Given the description of an element on the screen output the (x, y) to click on. 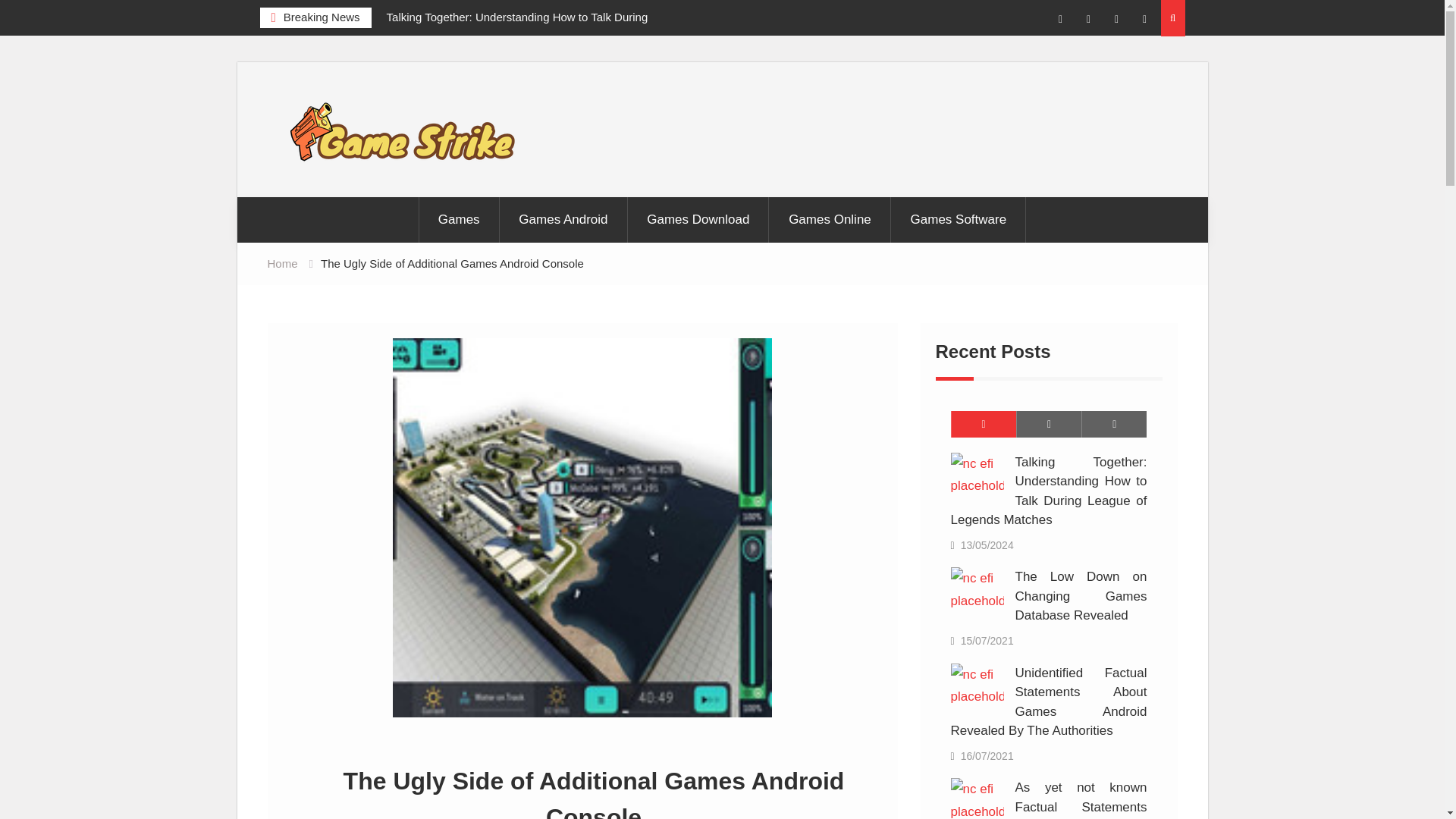
Pinterest (1144, 19)
Games Software (958, 219)
Games Android (563, 219)
The Low Down on Changing Games Database Revealed (977, 589)
Instagram (1088, 19)
Home (281, 263)
Games Download (697, 219)
Games (459, 219)
Facebook (1059, 19)
